Given the description of an element on the screen output the (x, y) to click on. 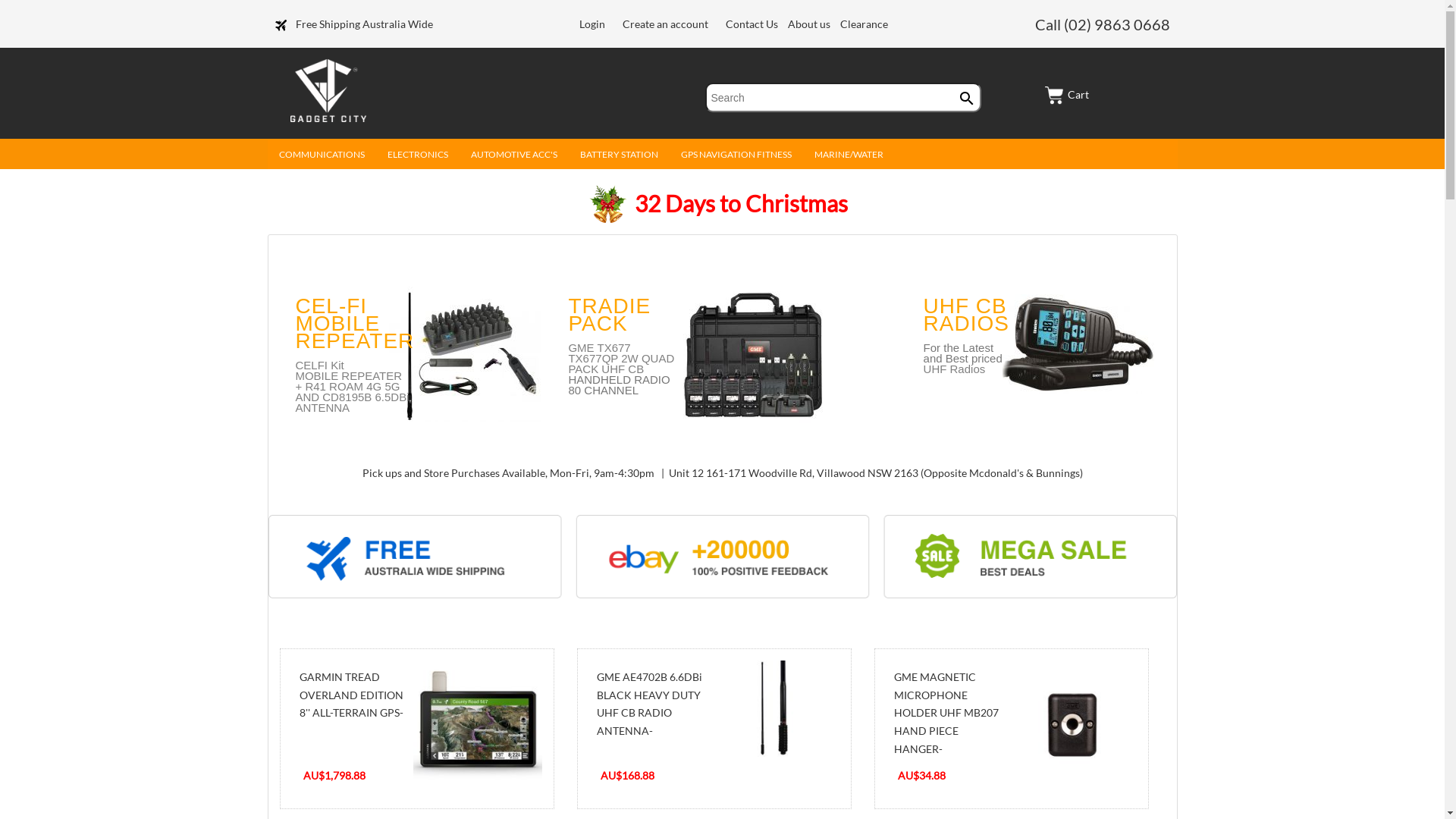
Contact Us Element type: text (752, 23)
Clearance Element type: text (864, 23)
GME AE4702B 6.6DBi BLACK HEAVY DUTY UHF CB RADIO ANTENNA Element type: hover (773, 708)
(02) 9863 0668 Element type: text (1116, 24)
GME MAGNETIC MICROPHONE HOLDER UHF MB207 HAND PIECE HANGER- Element type: text (945, 712)
GME MAGNETIC MICROPHONE HOLDER UHF MB207 HAND PIECE HANGER Element type: hover (1071, 724)
GARMIN TREAD OVERLAND EDITION 8'' ALL-TERRAIN GPS- Element type: text (350, 694)
UHF Radios Element type: text (962, 373)
  Cart Element type: text (1066, 93)
GARMIN TREAD OVERLAND EDITION  8'' ALL-TERRAIN GPS Element type: hover (476, 724)
MARINE/WATER Element type: text (848, 157)
CEL-FI MOBILE REPEATER Element type: text (354, 323)
GME TX677
TX677QP 2W QUAD
PACK UHF CB Element type: text (620, 358)
COMMUNICATIONS Element type: text (320, 157)
GPS NAVIGATION FITNESS Element type: text (735, 157)
UHF CB RADIOS Element type: text (966, 314)
Create an account Element type: text (665, 23)
GME AE4702B 6.6DBi BLACK HEAVY DUTY UHF CB RADIO ANTENNA- Element type: text (648, 703)
About us Element type: text (809, 23)
BATTERY STATION Element type: text (618, 157)
AUTOMOTIVE ACC'S Element type: text (513, 157)
ELECTRONICS Element type: text (417, 157)
Login Element type: text (592, 23)
